Given the description of an element on the screen output the (x, y) to click on. 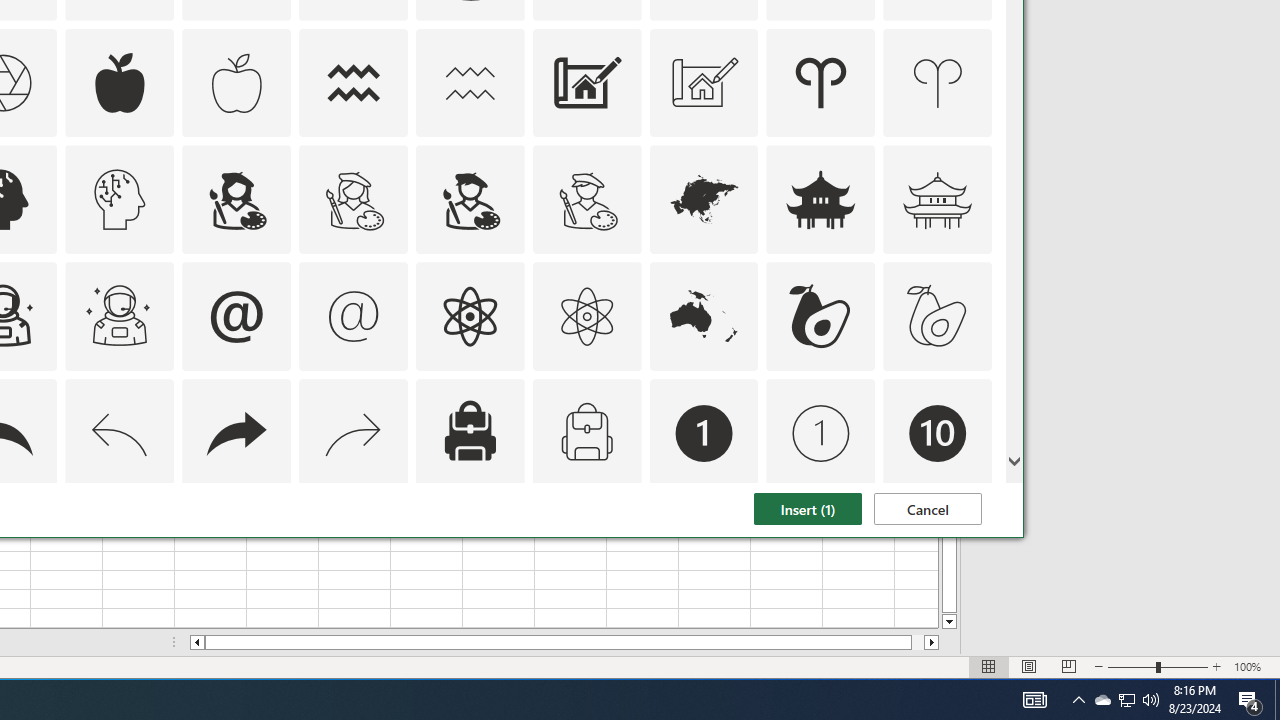
Thumbnail (977, 511)
AutomationID: Icons_At (236, 316)
AutomationID: Icons_ArtistMale (469, 200)
AutomationID: Icons_Badge7_M (469, 550)
AutomationID: Icons_Aquarius_M (469, 82)
AutomationID: Icons_Badge8_M (703, 550)
AutomationID: Icons_ArtistFemale (236, 200)
